Given the description of an element on the screen output the (x, y) to click on. 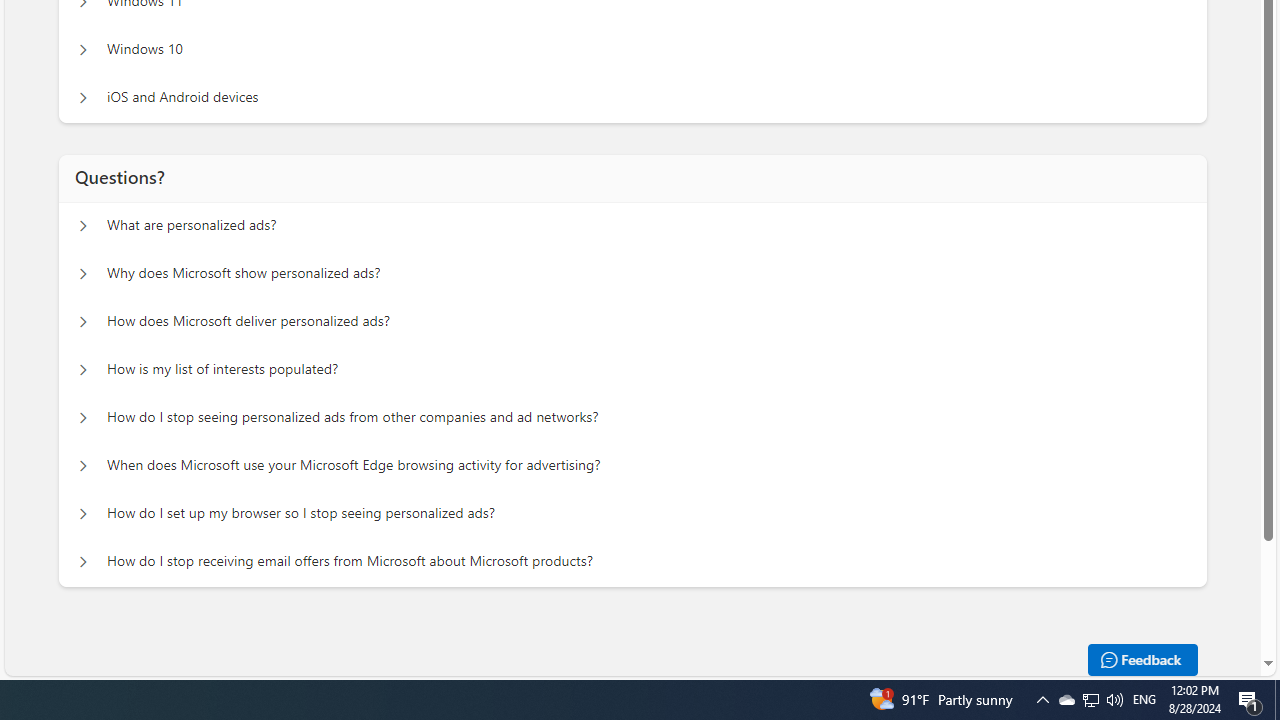
Questions? How does Microsoft deliver personalized ads? (82, 322)
